Given the description of an element on the screen output the (x, y) to click on. 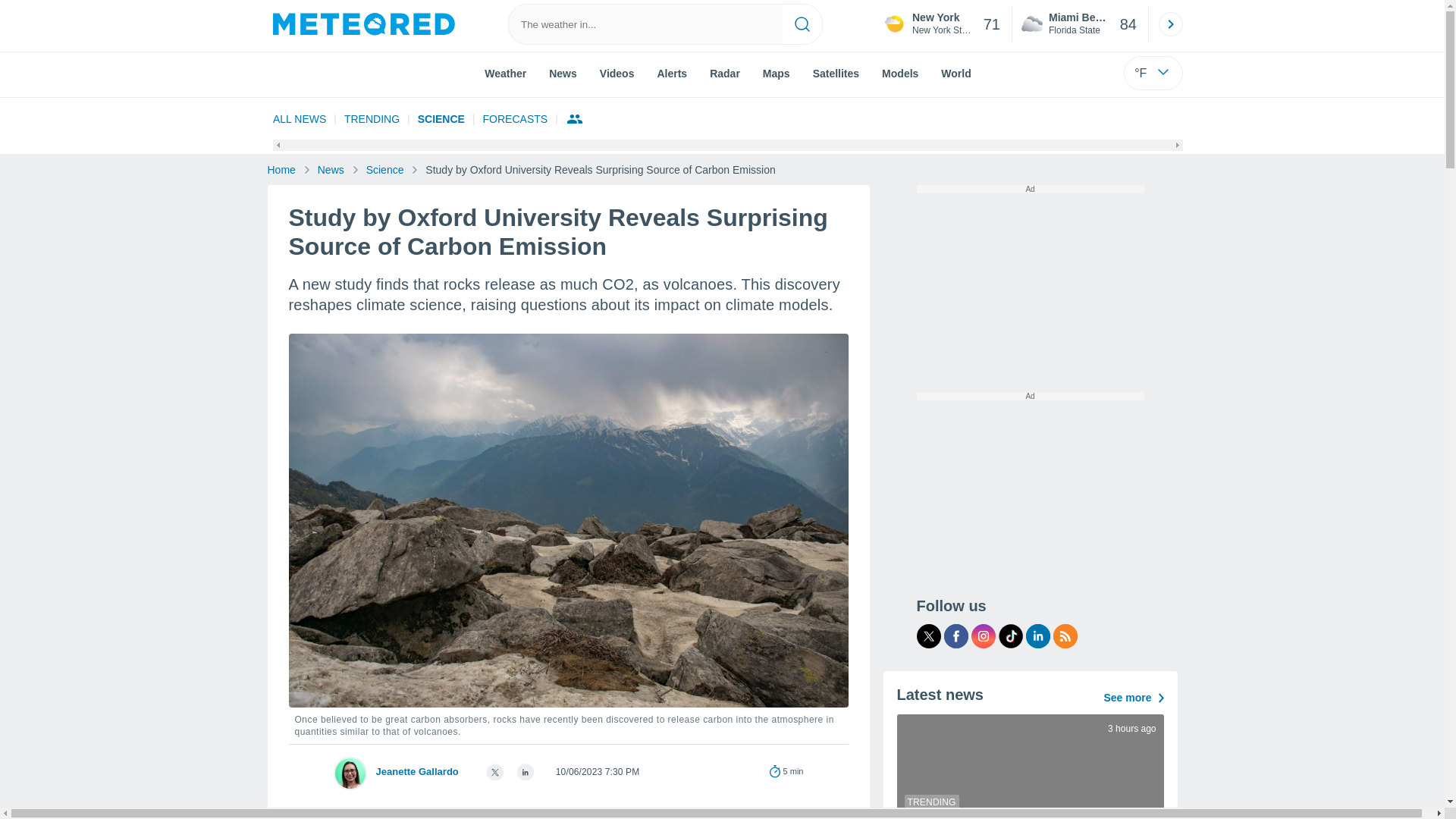
SCIENCE (440, 118)
Trending (370, 118)
Science (440, 118)
Weather (504, 72)
Jeanette Gallardo Twitter (494, 768)
Jeanette Gallardo (1079, 23)
News (416, 771)
World (332, 169)
Satellites (955, 72)
